Given the description of an element on the screen output the (x, y) to click on. 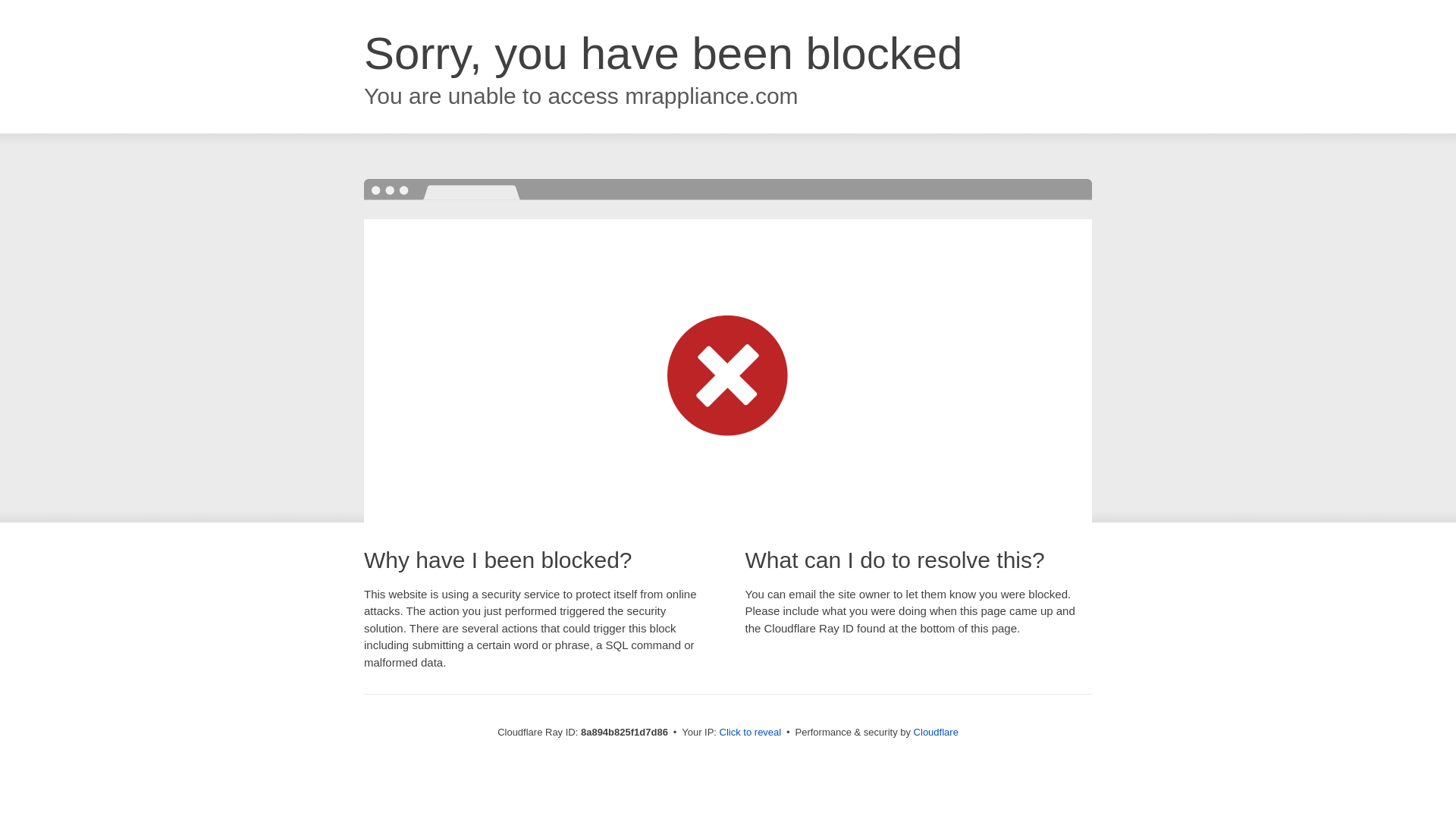
Cloudflare (936, 731)
Click to reveal (750, 732)
